Given the description of an element on the screen output the (x, y) to click on. 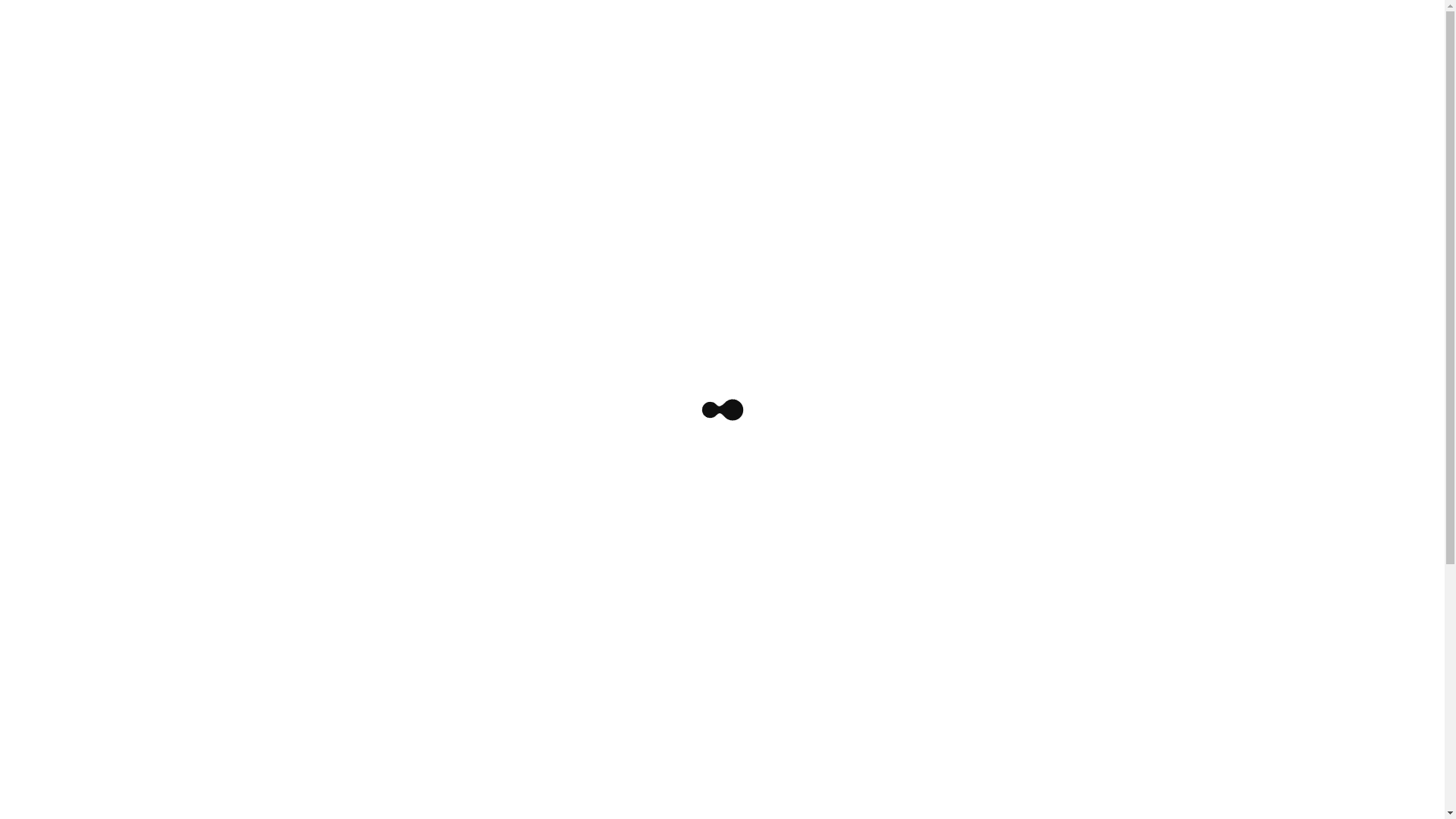
March 19, 2017 Element type: text (129, 146)
Skip to content Element type: text (43, 16)
bert Element type: text (187, 146)
